Given the description of an element on the screen output the (x, y) to click on. 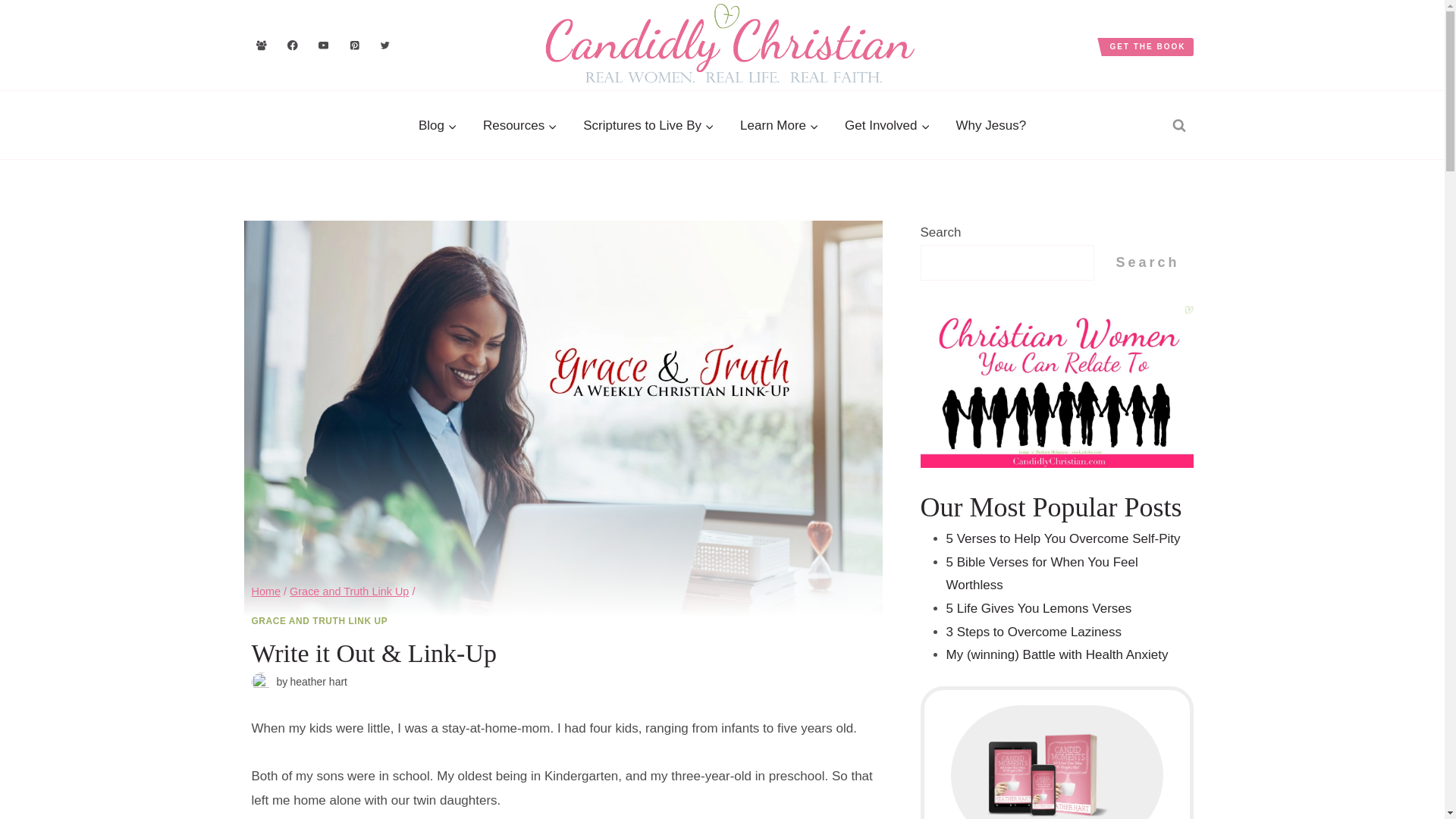
Blog (438, 125)
Resources (520, 125)
Scriptures to Live By (648, 125)
GET THE BOOK (1147, 46)
